Given the description of an element on the screen output the (x, y) to click on. 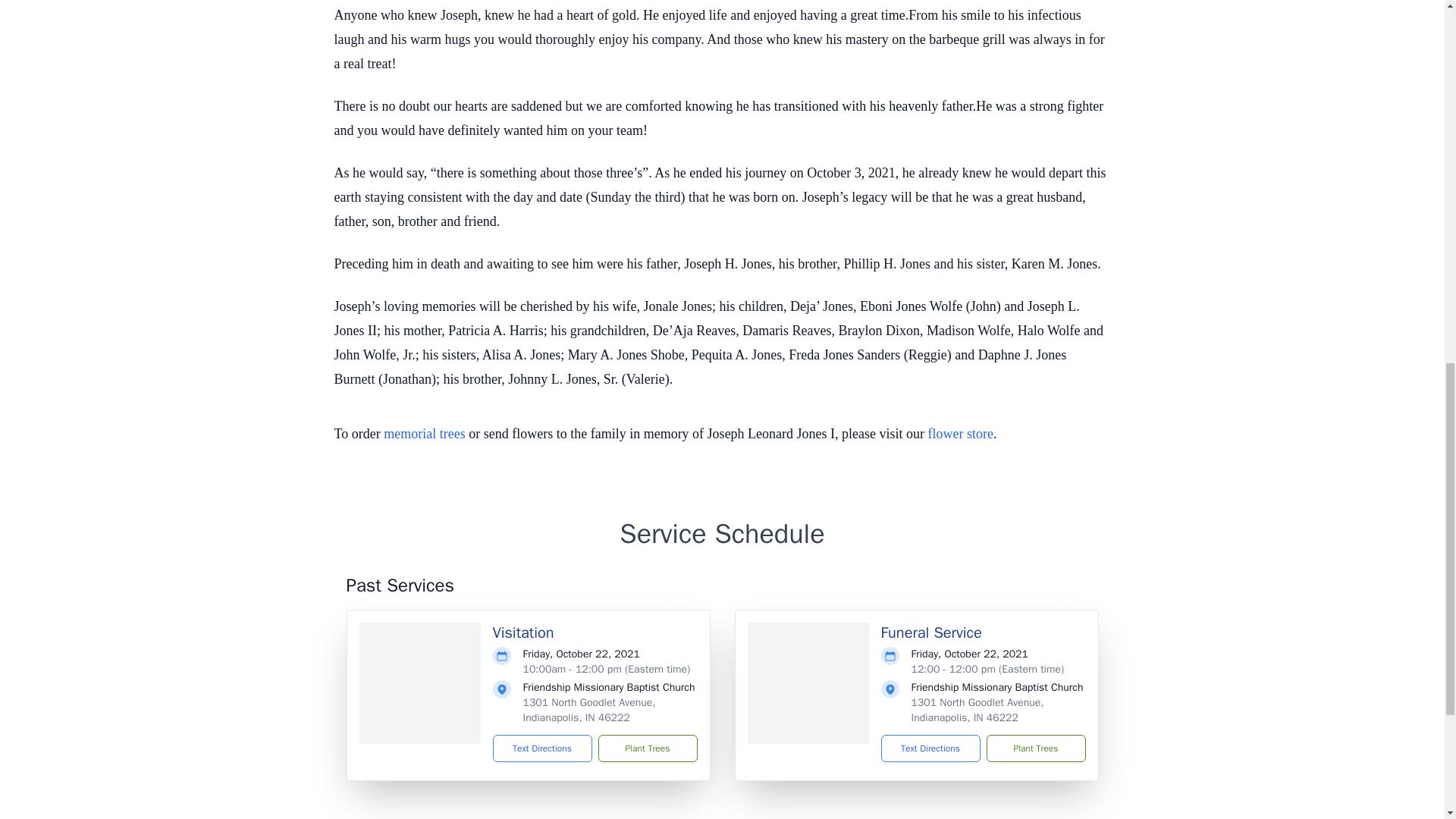
flower store (960, 433)
1301 North Goodlet Avenue, Indianapolis, IN 46222 (589, 709)
Plant Trees (646, 748)
1301 North Goodlet Avenue, Indianapolis, IN 46222 (977, 709)
Text Directions (929, 748)
Plant Trees (1034, 748)
memorial trees (424, 433)
Text Directions (542, 748)
